Given the description of an element on the screen output the (x, y) to click on. 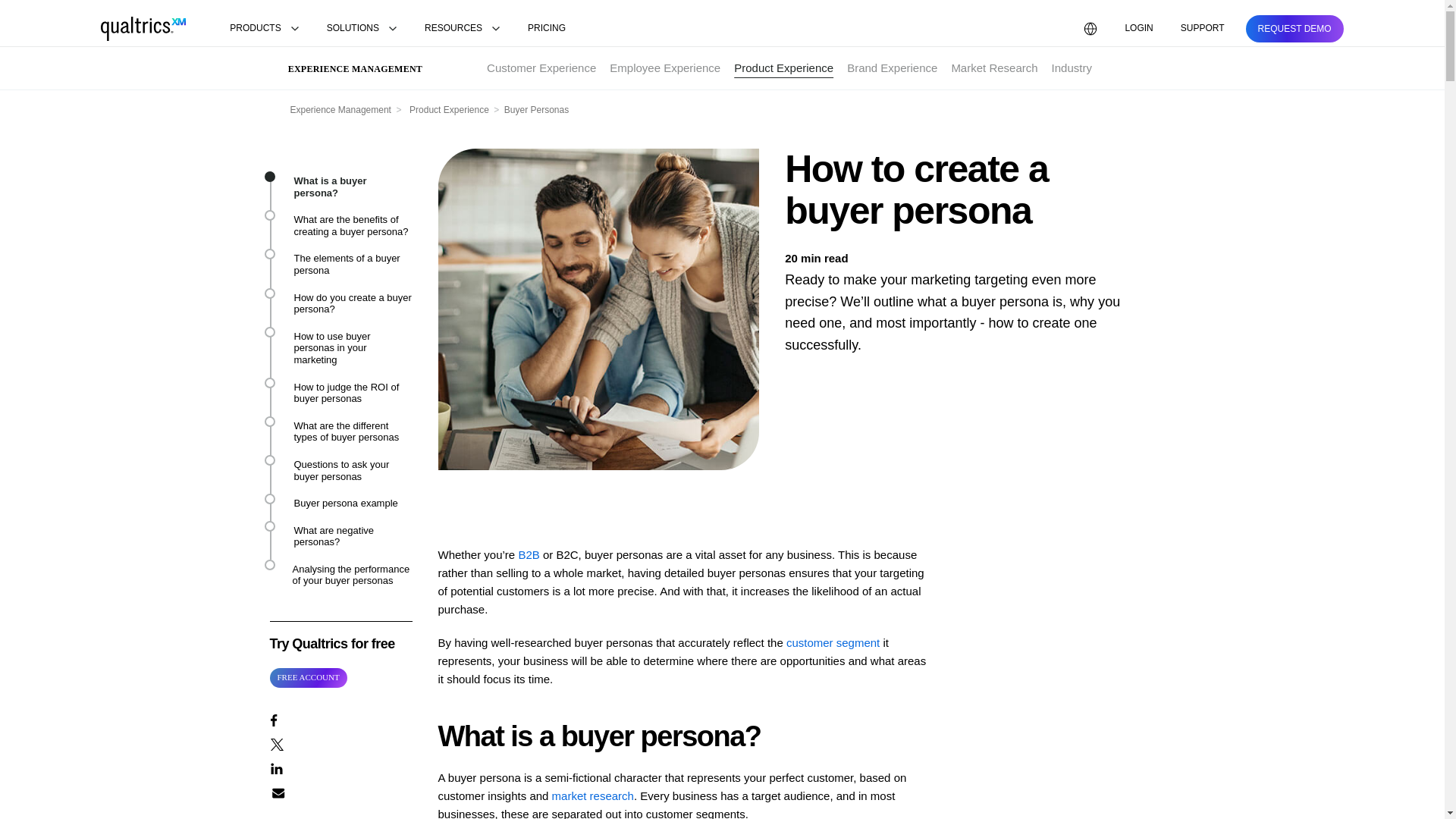
Share on LinkedIn (340, 768)
PRODUCTS (264, 28)
X Logo (276, 744)
Share on X (340, 743)
Skip to main content (51, 9)
Share via Email (340, 791)
SOLUTIONS (361, 28)
Share on Facebook (340, 719)
RESOURCES (462, 28)
PRICING (546, 28)
